Given the description of an element on the screen output the (x, y) to click on. 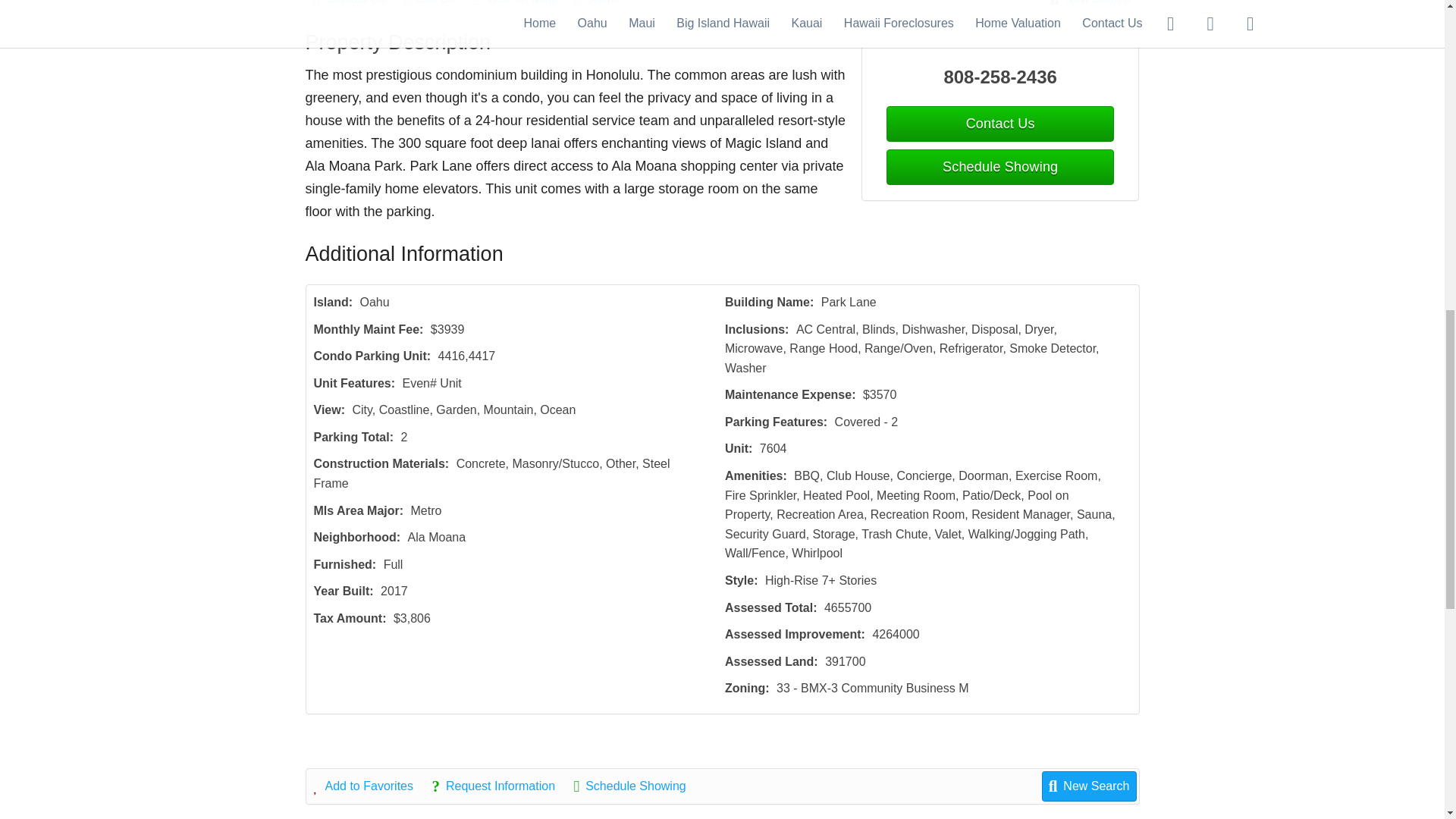
Call Us (437, 5)
Contact Us (357, 5)
New Search (1090, 5)
808-258-2436 (1000, 76)
Share (603, 5)
View on Map (521, 5)
